Given the description of an element on the screen output the (x, y) to click on. 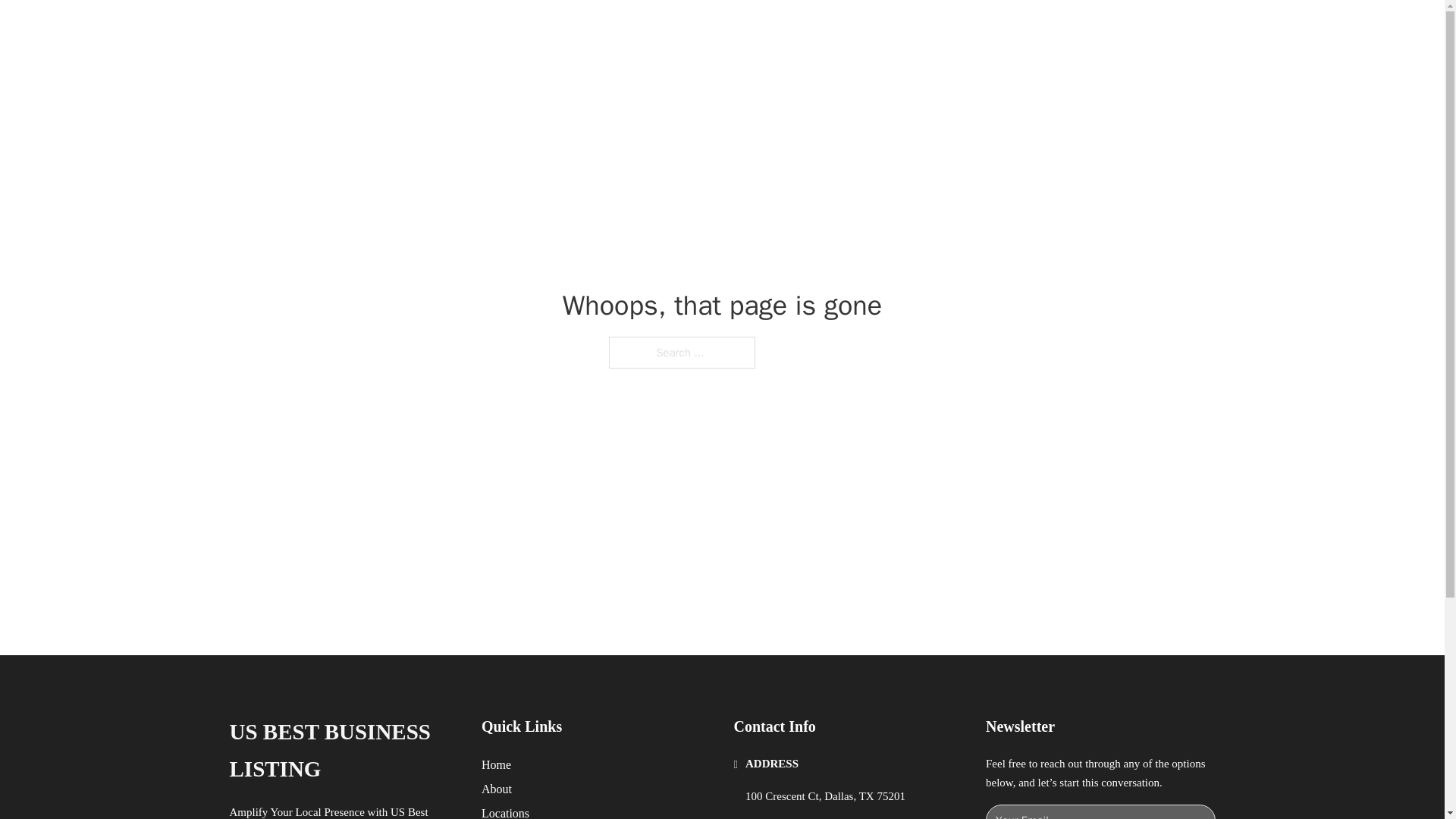
US BEST BUSINESS LISTING (343, 750)
US BEST BUSINESS LISTING (448, 28)
HOME (919, 29)
Locations (505, 811)
About (496, 788)
Home (496, 764)
LOCATIONS (990, 29)
